Given the description of an element on the screen output the (x, y) to click on. 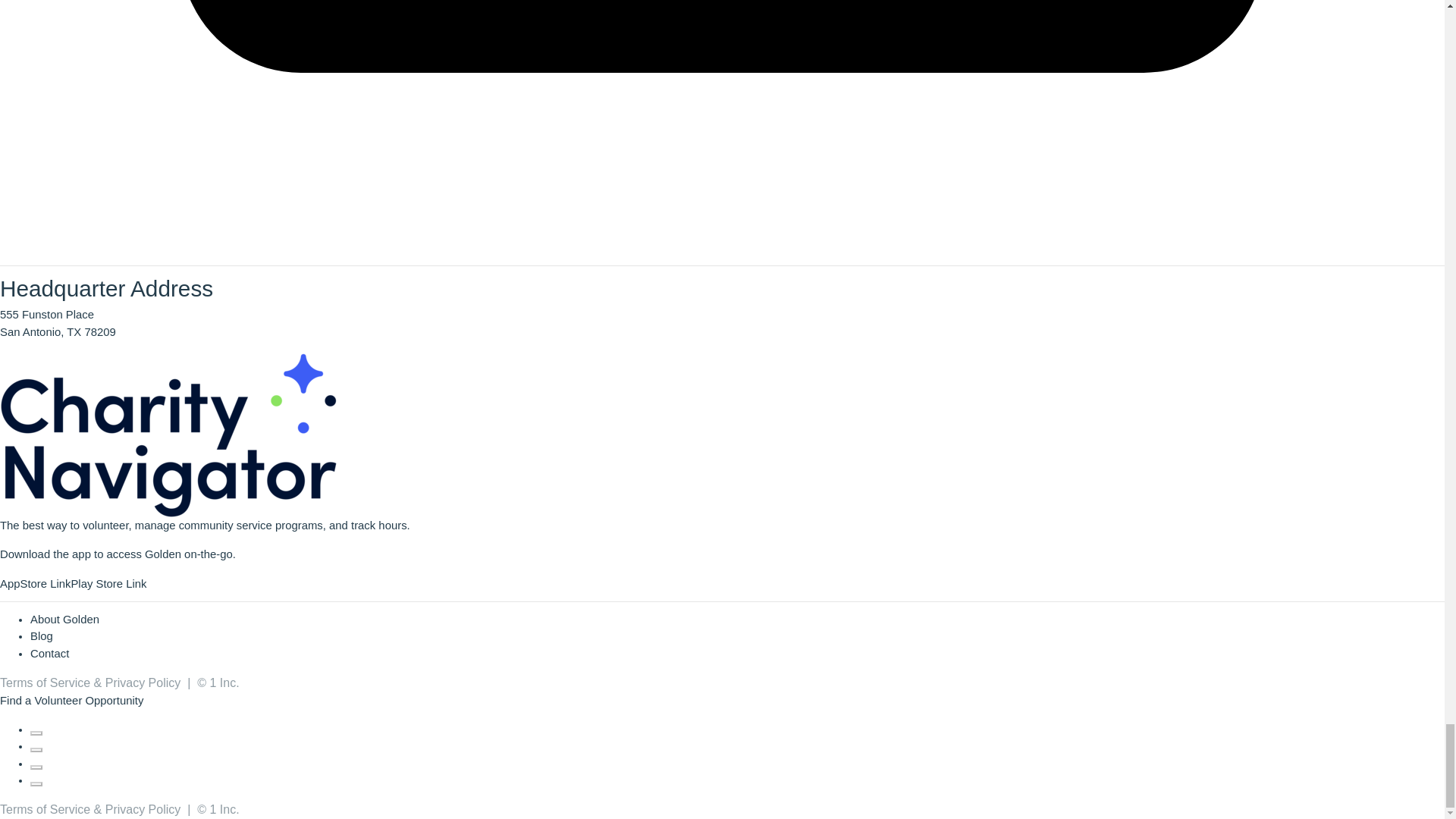
Play Store Link (108, 583)
AppStore Link (34, 583)
Visit Us On YouTube (36, 779)
About Golden (64, 619)
Privacy Policy (142, 682)
Visit Us On Instagram (36, 763)
Blog (41, 635)
Privacy Policy (142, 809)
Terms of Service (45, 809)
Volunteer Opportunity (87, 700)
Terms of Service (45, 682)
Visit Us On Facebook (36, 729)
Contact (49, 653)
Visit Us On Twitter (36, 746)
Contact (49, 653)
